Given the description of an element on the screen output the (x, y) to click on. 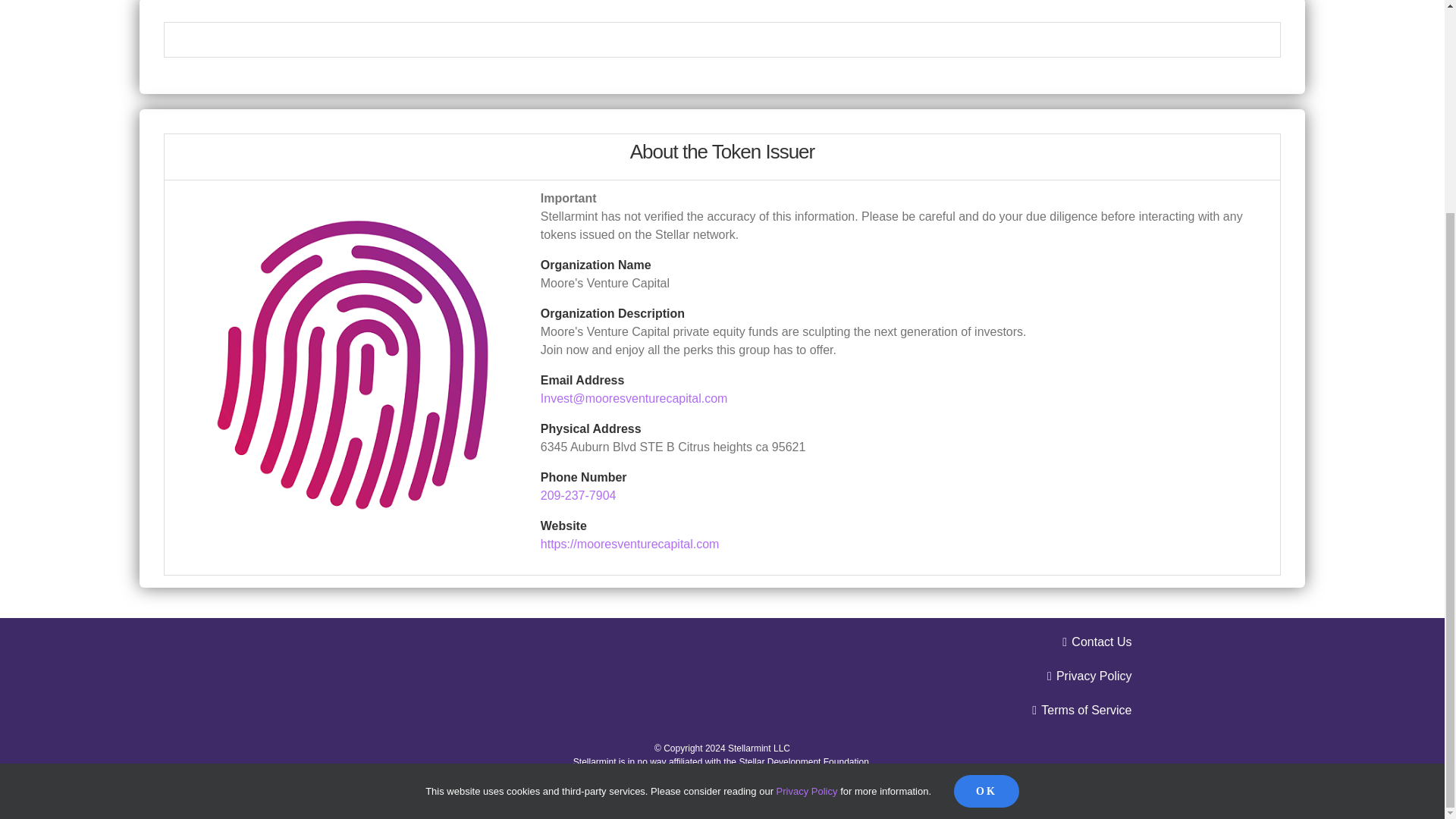
Stellarmint LLC (759, 747)
Privacy Policy (722, 676)
OK (986, 512)
209-237-7904 (577, 495)
Terms of Service (722, 710)
Privacy Policy (807, 512)
Stellar Development Foundation (802, 761)
Contact Us (722, 642)
